Given the description of an element on the screen output the (x, y) to click on. 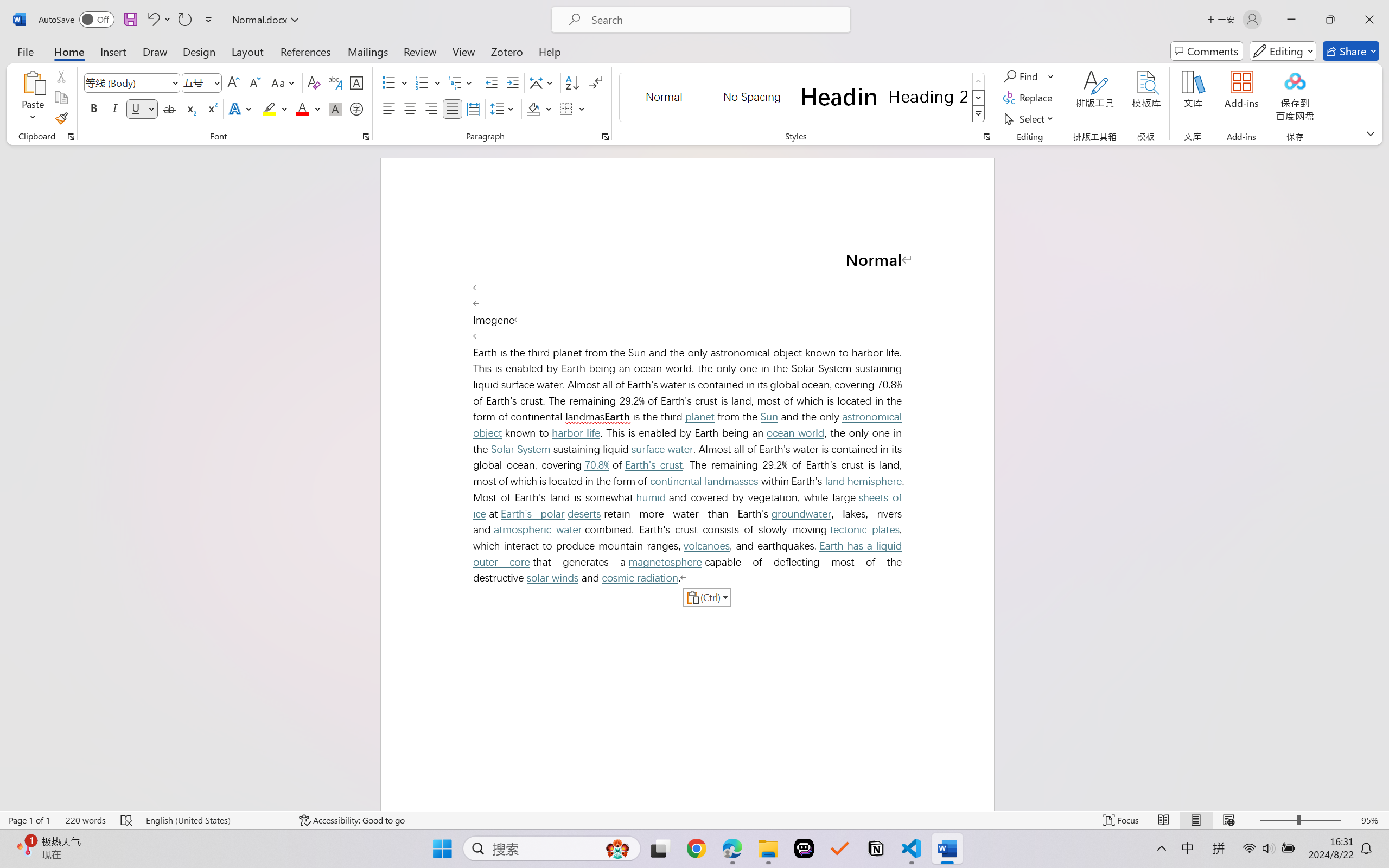
Multilevel List (461, 82)
Text Effects and Typography (241, 108)
Undo Paste Destination Formatting (158, 19)
Earth's polar (533, 513)
Class: NetUIScrollBar (1382, 477)
Decrease Indent (491, 82)
Office Clipboard... (70, 136)
Class: MsoCommandBar (694, 819)
70.8% (596, 465)
